Given the description of an element on the screen output the (x, y) to click on. 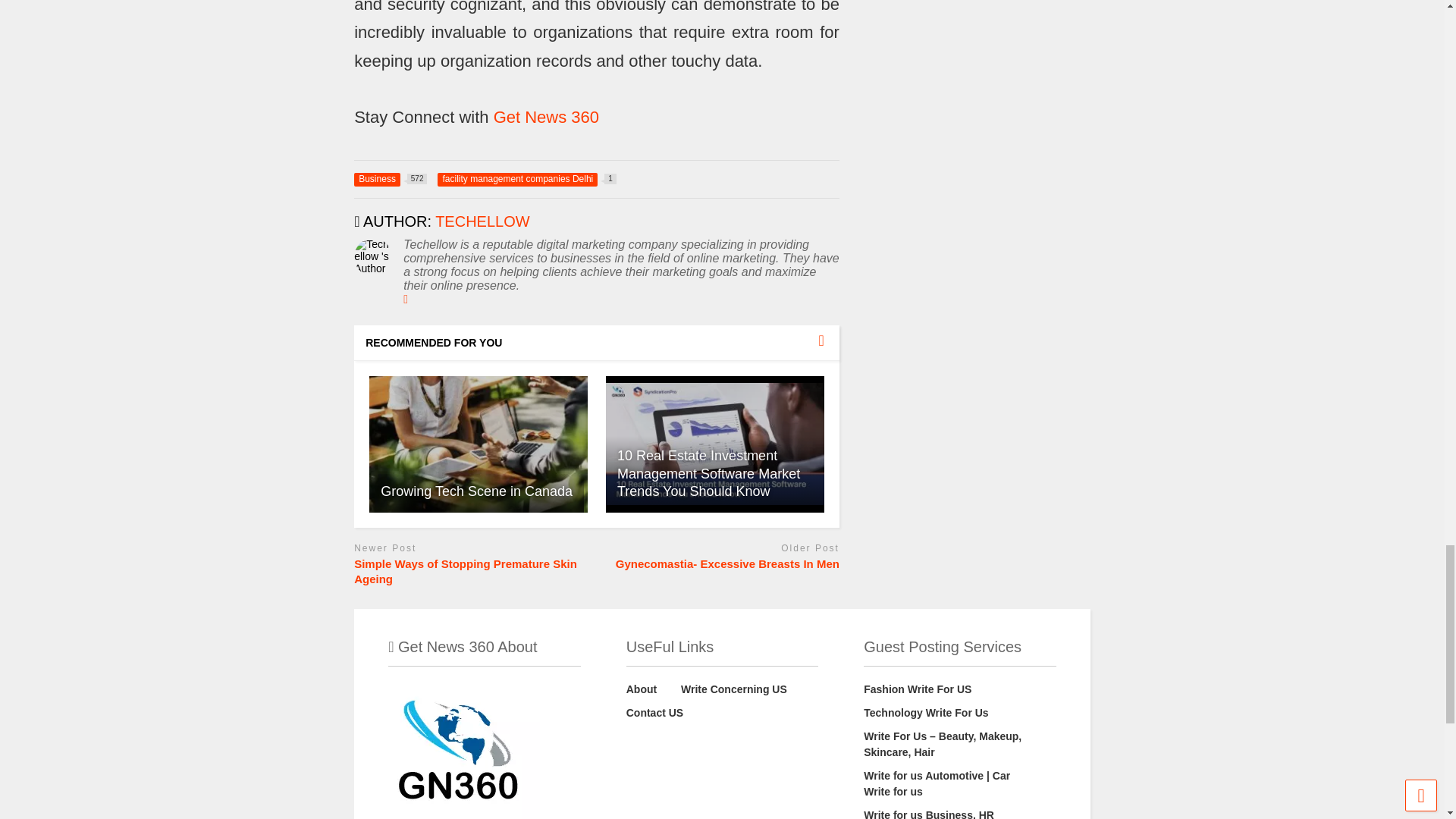
Growing Tech Scene in Canada (478, 443)
Simple Ways of Stopping Premature Skin Ageing (471, 571)
Get News 360 (545, 116)
author profile (482, 221)
Click to read (526, 178)
Click to read (478, 443)
Growing Tech Scene in Canada (389, 178)
TECHELLOW (714, 443)
Gynecomastia- Excessive Breasts In Men (476, 491)
